Given the description of an element on the screen output the (x, y) to click on. 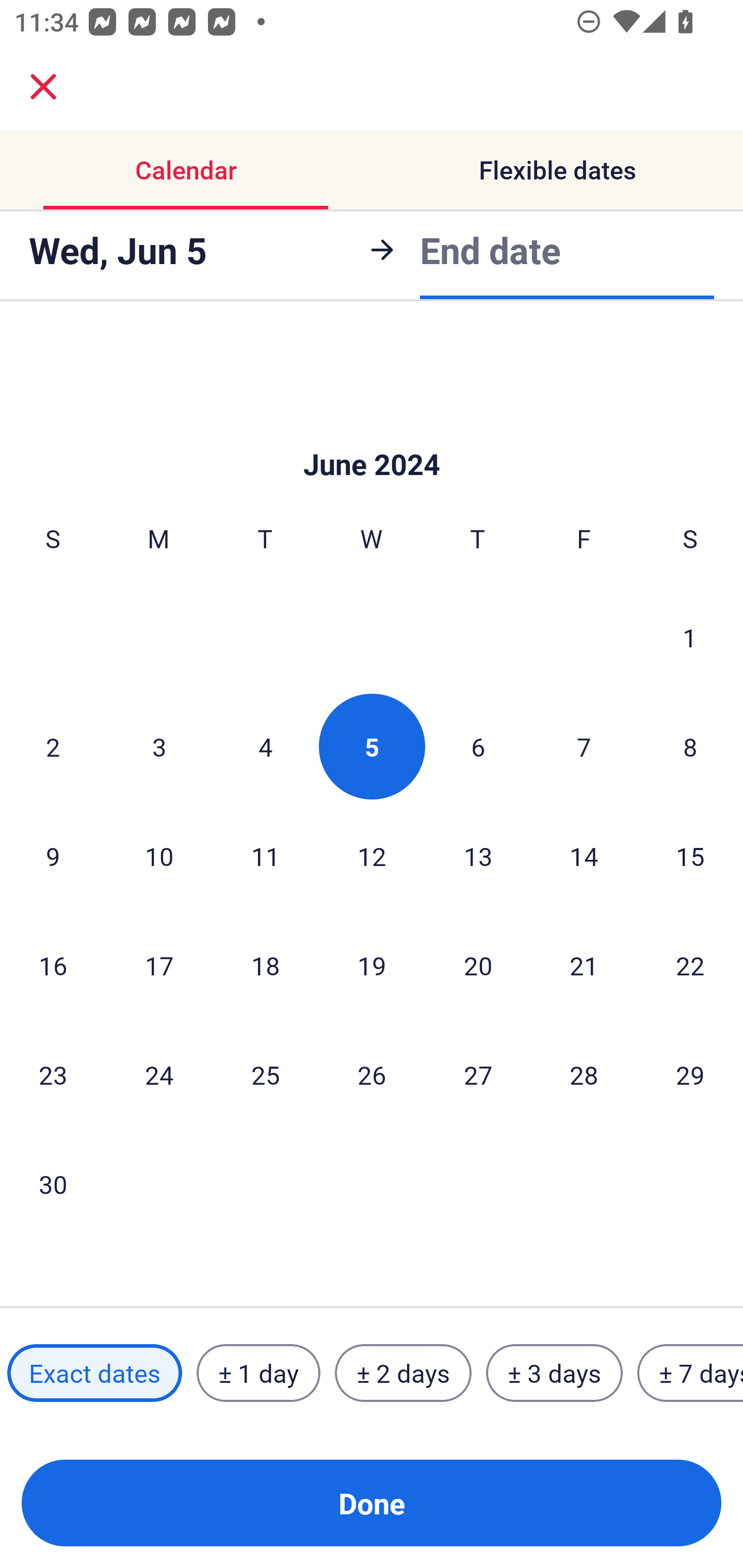
close. (43, 86)
Flexible dates (557, 170)
End date (489, 246)
Skip to Done (371, 433)
1 Saturday, June 1, 2024 (689, 636)
2 Sunday, June 2, 2024 (53, 746)
3 Monday, June 3, 2024 (159, 746)
4 Tuesday, June 4, 2024 (265, 746)
6 Thursday, June 6, 2024 (477, 746)
7 Friday, June 7, 2024 (584, 746)
8 Saturday, June 8, 2024 (690, 746)
9 Sunday, June 9, 2024 (53, 855)
10 Monday, June 10, 2024 (159, 855)
11 Tuesday, June 11, 2024 (265, 855)
12 Wednesday, June 12, 2024 (371, 855)
13 Thursday, June 13, 2024 (477, 855)
14 Friday, June 14, 2024 (584, 855)
15 Saturday, June 15, 2024 (690, 855)
16 Sunday, June 16, 2024 (53, 964)
17 Monday, June 17, 2024 (159, 964)
18 Tuesday, June 18, 2024 (265, 964)
19 Wednesday, June 19, 2024 (371, 964)
20 Thursday, June 20, 2024 (477, 964)
21 Friday, June 21, 2024 (584, 964)
22 Saturday, June 22, 2024 (690, 964)
23 Sunday, June 23, 2024 (53, 1074)
24 Monday, June 24, 2024 (159, 1074)
25 Tuesday, June 25, 2024 (265, 1074)
26 Wednesday, June 26, 2024 (371, 1074)
27 Thursday, June 27, 2024 (477, 1074)
28 Friday, June 28, 2024 (584, 1074)
29 Saturday, June 29, 2024 (690, 1074)
30 Sunday, June 30, 2024 (53, 1183)
Exact dates (94, 1372)
± 1 day (258, 1372)
± 2 days (403, 1372)
± 3 days (553, 1372)
± 7 days (690, 1372)
Done (371, 1502)
